Given the description of an element on the screen output the (x, y) to click on. 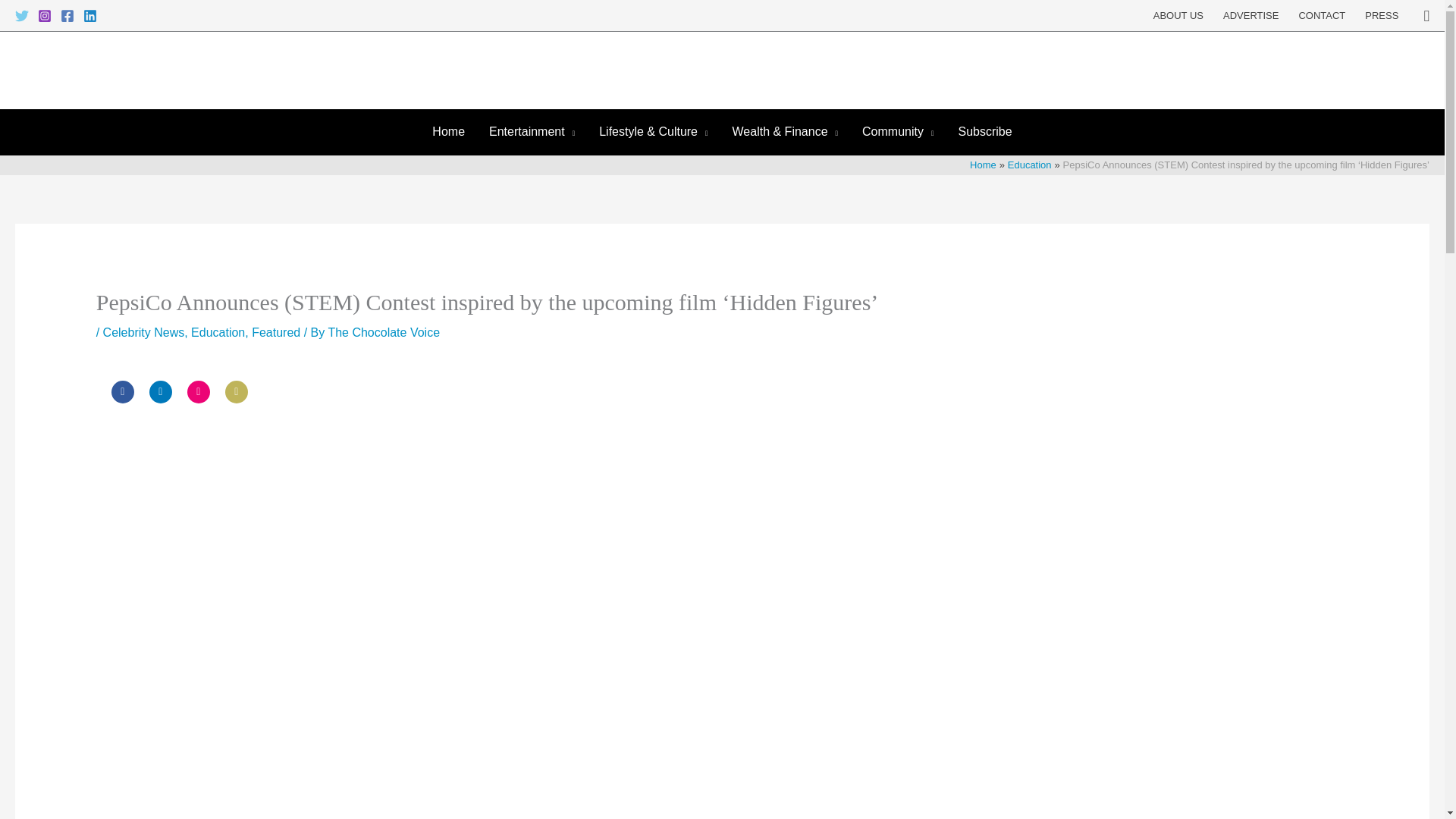
View all posts by The Chocolate Voice (383, 332)
ADVERTISE (1250, 15)
Community (897, 131)
PRESS (1381, 15)
Entertainment (531, 131)
ABOUT US (1177, 15)
CONTACT (1321, 15)
Home (448, 131)
Subscribe (983, 131)
